Given the description of an element on the screen output the (x, y) to click on. 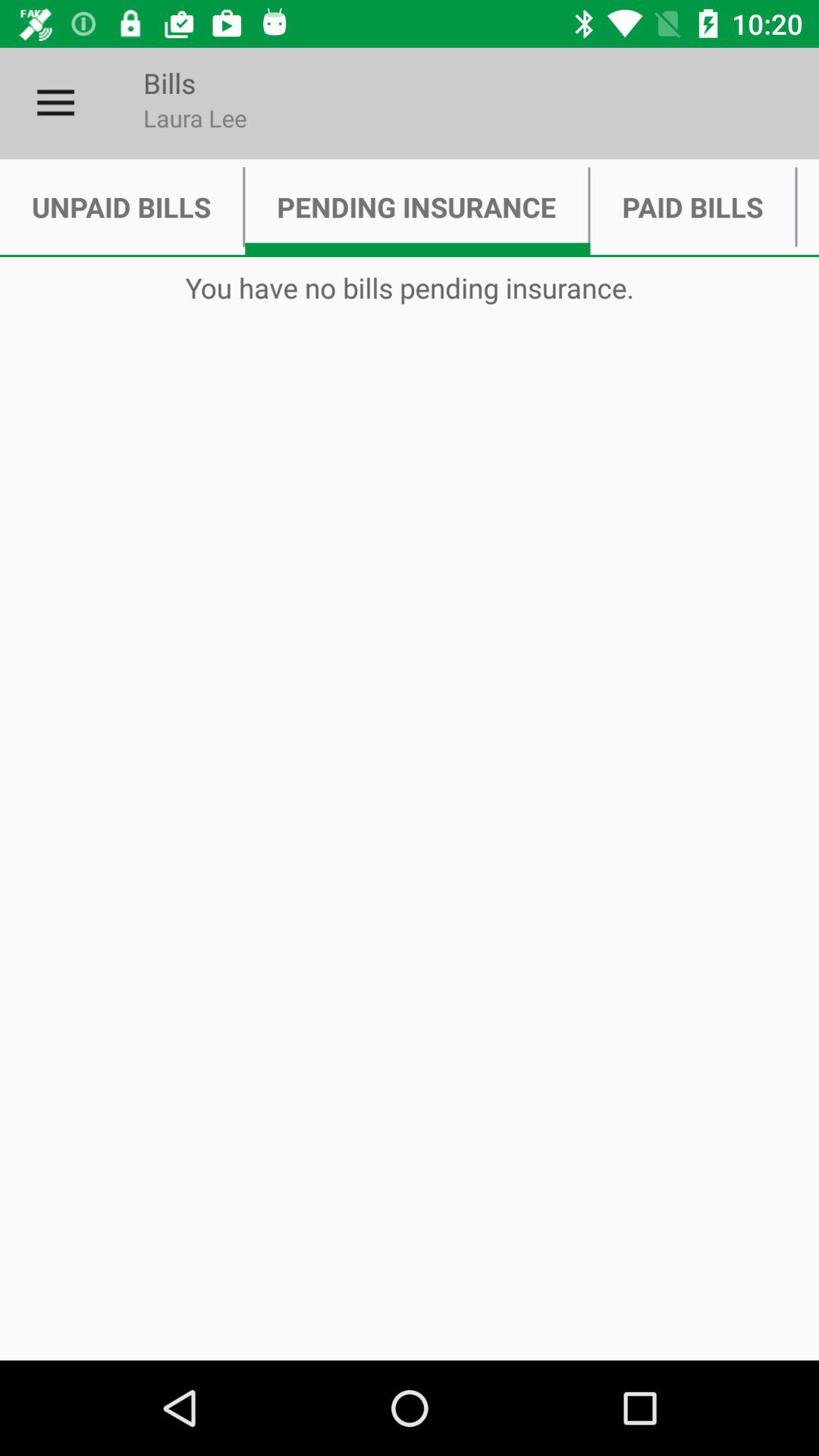
select the icon above the unpaid bills (55, 103)
